Given the description of an element on the screen output the (x, y) to click on. 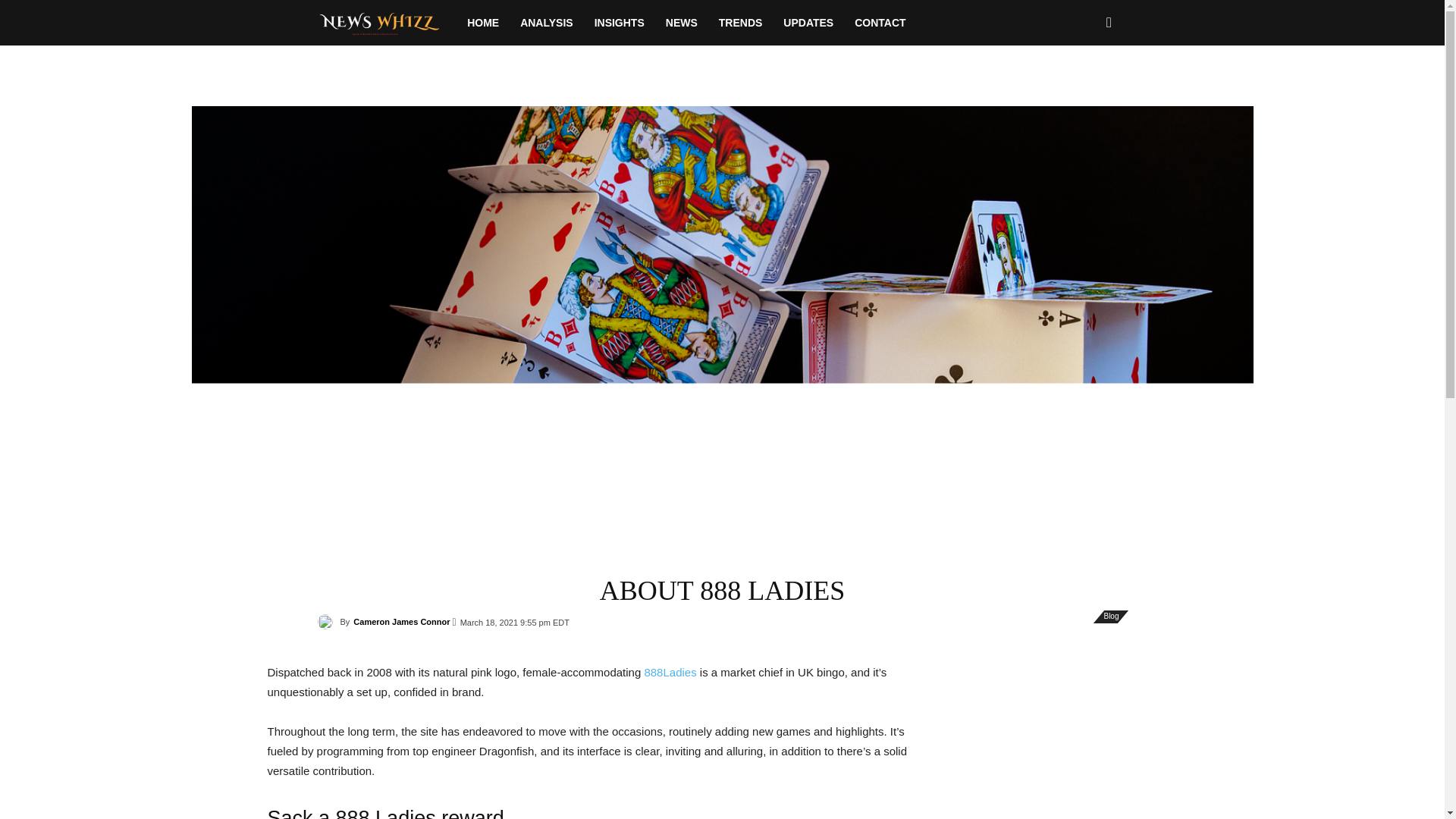
Cameron James Connor (401, 621)
Blog (1110, 616)
HOME (483, 22)
NEWS (681, 22)
888Ladies (669, 671)
Latest Worldwide Tech, Entertainment News Whizz (387, 22)
INSIGHTS (619, 22)
Search (1085, 87)
TRENDS (740, 22)
CONTACT (879, 22)
